Given the description of an element on the screen output the (x, y) to click on. 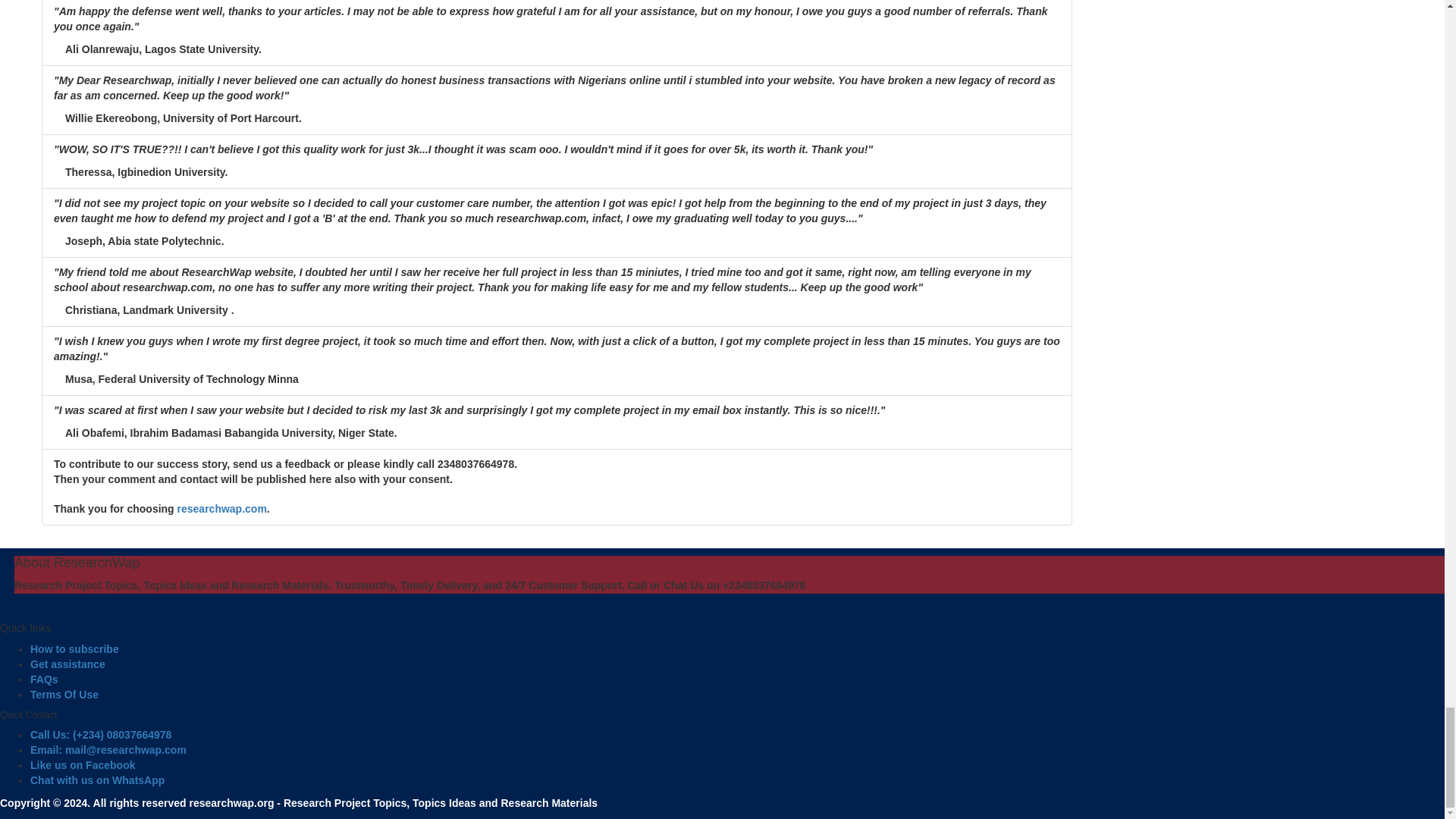
researchwap.com (221, 508)
